Given the description of an element on the screen output the (x, y) to click on. 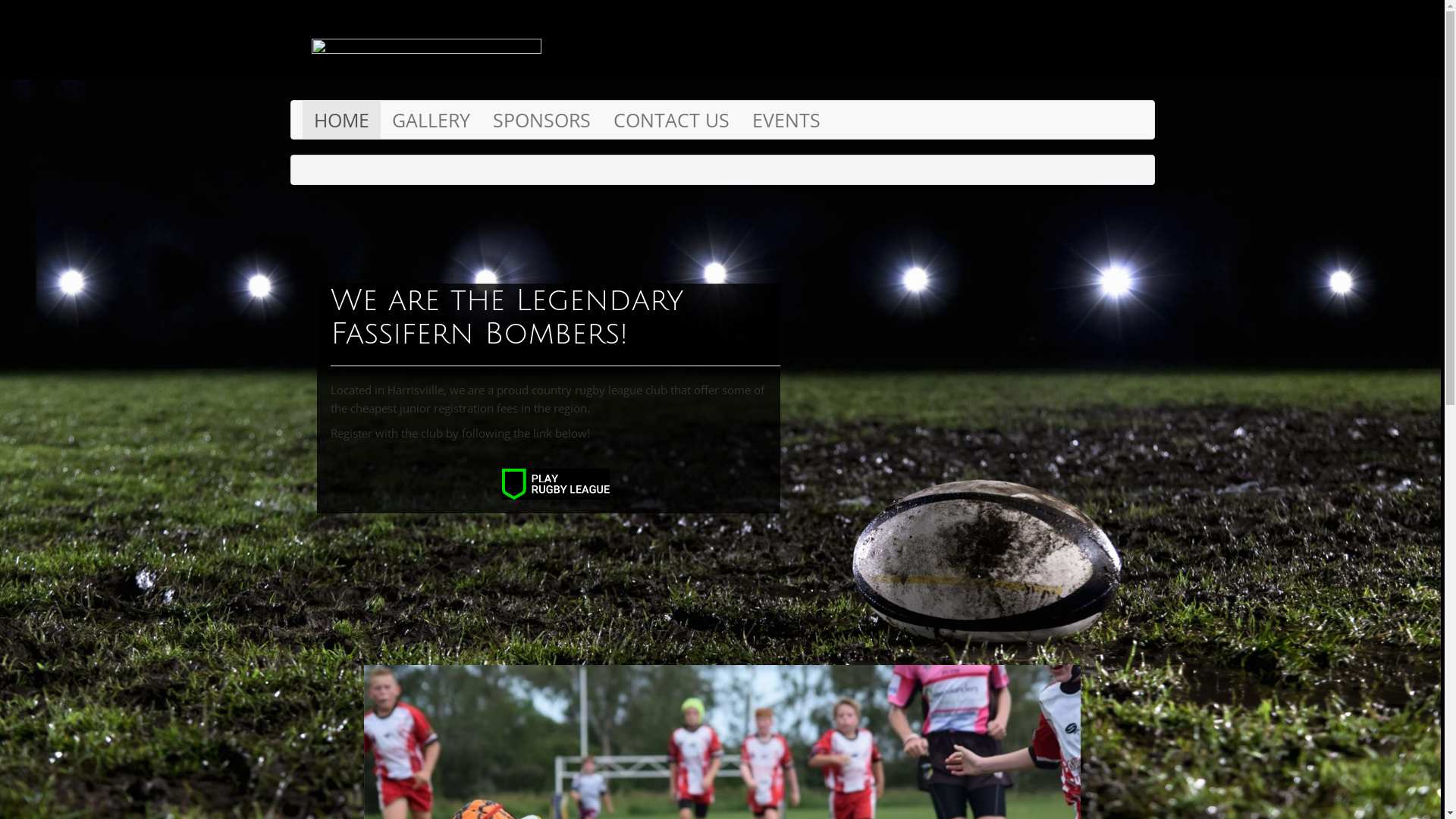
CONTACT US Element type: text (671, 119)
HOME Element type: text (340, 119)
SPONSORS Element type: text (540, 119)
GALLERY Element type: text (430, 119)
EVENTS Element type: text (785, 119)
